Given the description of an element on the screen output the (x, y) to click on. 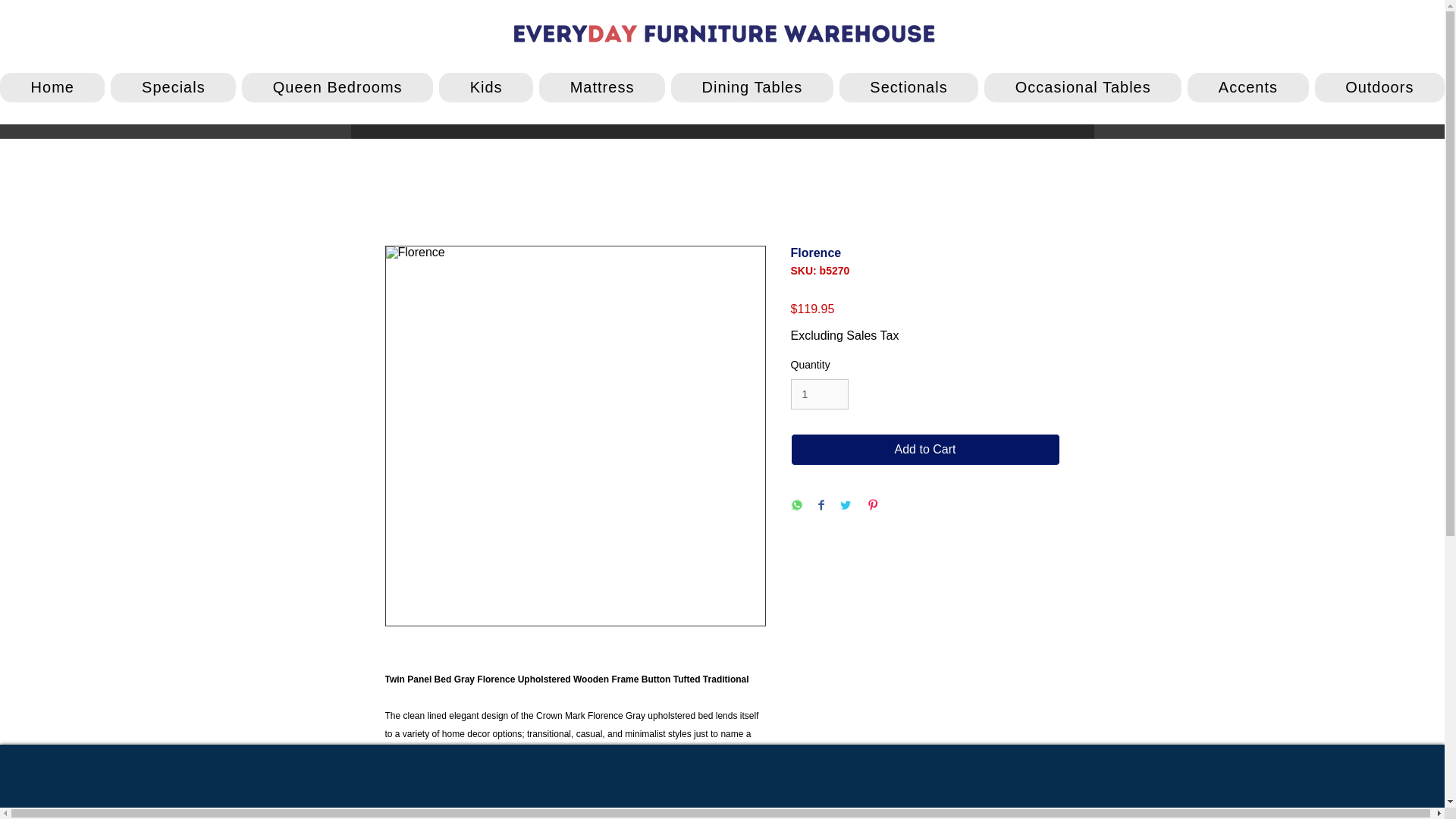
Home (52, 87)
Sectionals (909, 87)
Dining Tables (751, 87)
Outdoors (1379, 87)
1 (818, 394)
Accents (1247, 87)
Occasional Tables (1082, 87)
Specials (172, 87)
Add to Cart (924, 450)
Mattress (601, 87)
Queen Bedrooms (336, 87)
Kids (485, 87)
